Given the description of an element on the screen output the (x, y) to click on. 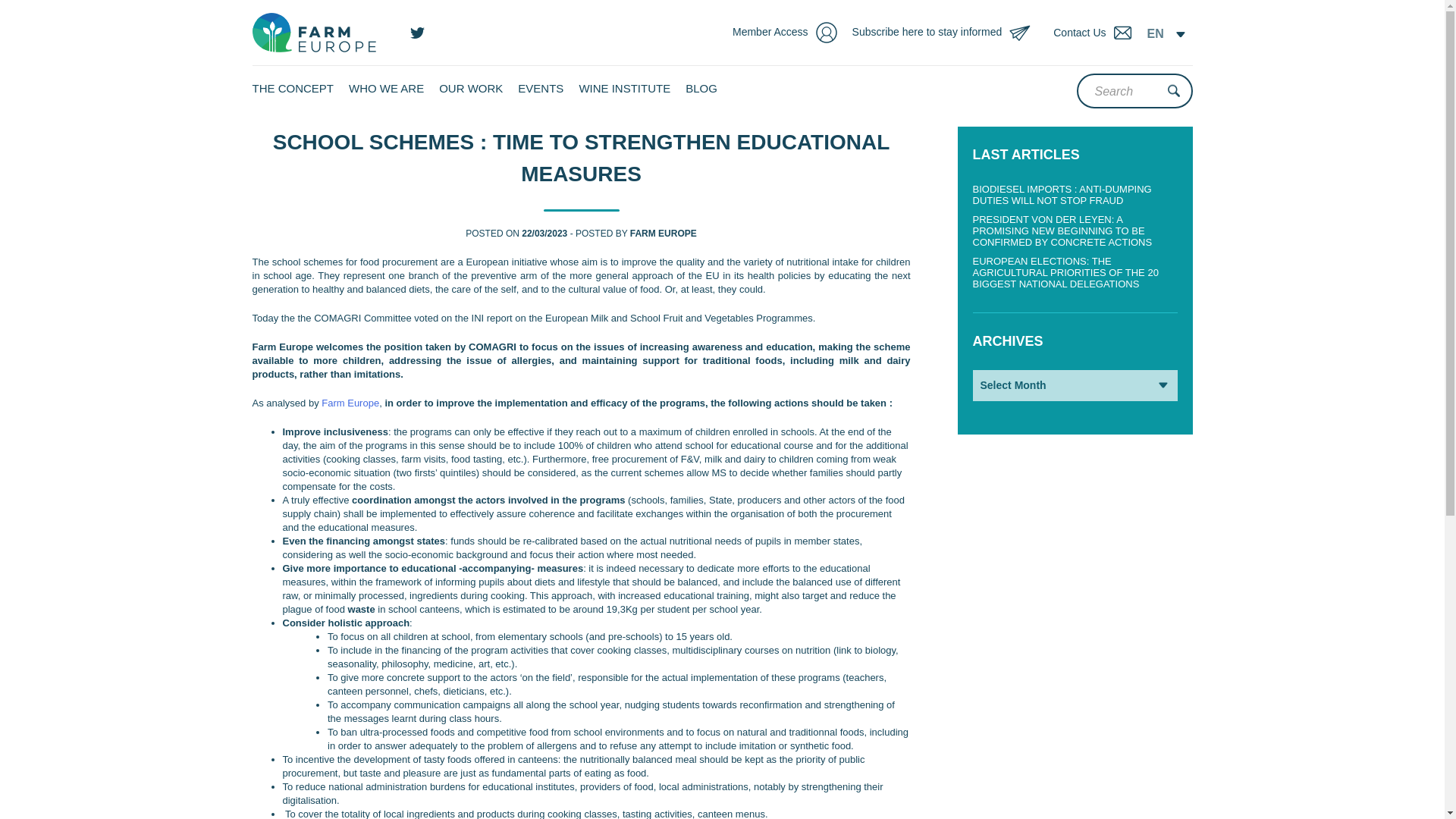
Contact Us (1096, 32)
Farm Europe (349, 402)
OUR WORK (470, 88)
Subscribe here to stay informed (948, 32)
WINE INSTITUTE (623, 88)
BIODIESEL IMPORTS : ANTI-DUMPING DUTIES WILL NOT STOP FRAUD (1061, 194)
Member Access (791, 32)
FARM EUROPE (663, 233)
WHO WE ARE (386, 88)
EVENTS (540, 88)
THE CONCEPT (292, 88)
